Given the description of an element on the screen output the (x, y) to click on. 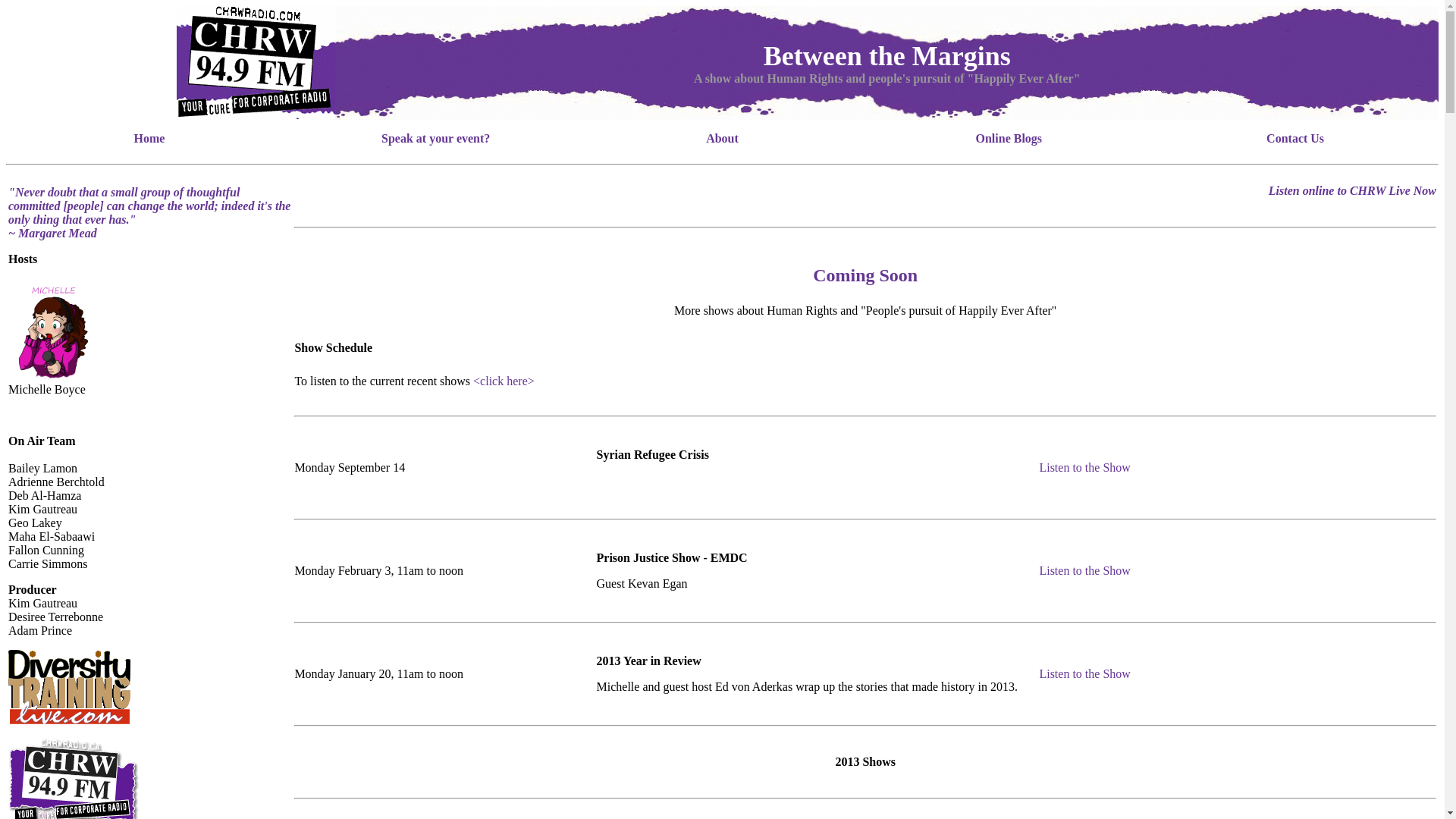
Listen to the Show Element type: text (1083, 467)
Contact Us Element type: text (1295, 137)
Listen online to CHRW Live Now Element type: text (1352, 189)
Home Element type: text (148, 137)
Listen to the Show Element type: text (1083, 570)
Speak at your event? Element type: text (435, 137)
<click here> Element type: text (503, 380)
About Element type: text (722, 137)
Online Blogs Element type: text (1008, 137)
Listen to the Show Element type: text (1083, 673)
